Given the description of an element on the screen output the (x, y) to click on. 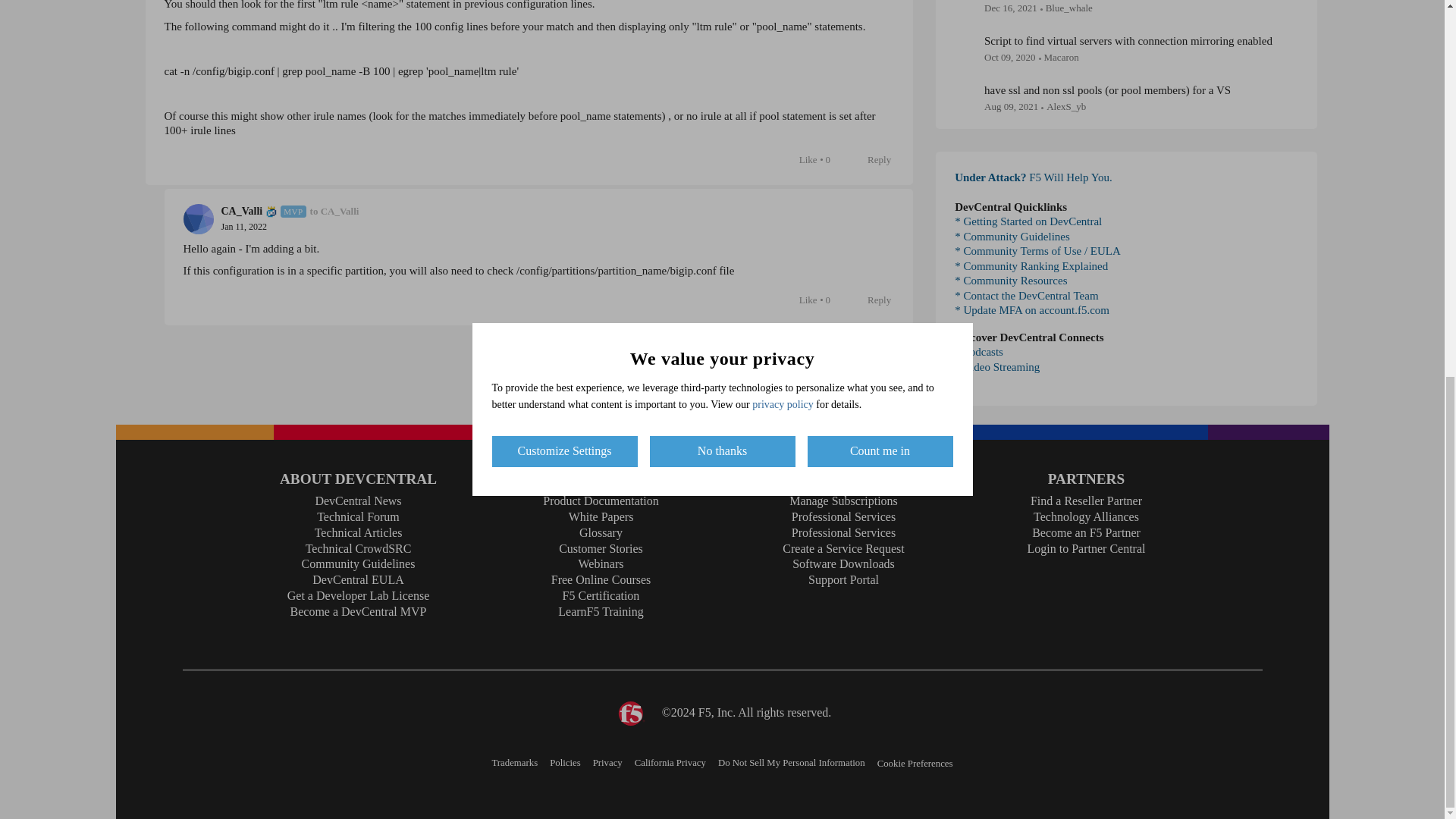
January 11, 2022 at 9:41 PM (244, 226)
December 16, 2021 at 12:10 PM (1010, 7)
